Given the description of an element on the screen output the (x, y) to click on. 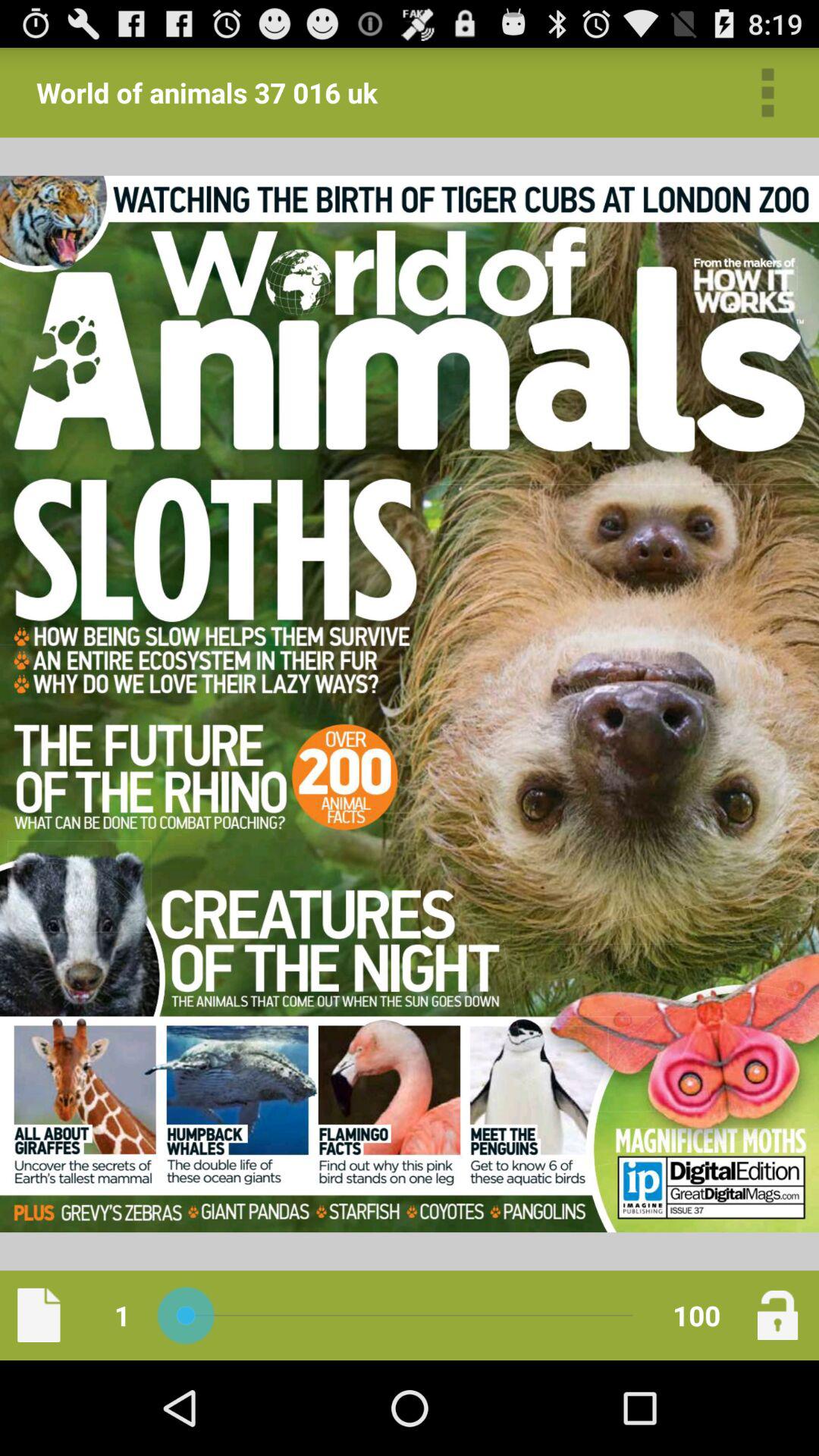
lock the page your on (777, 1315)
